Given the description of an element on the screen output the (x, y) to click on. 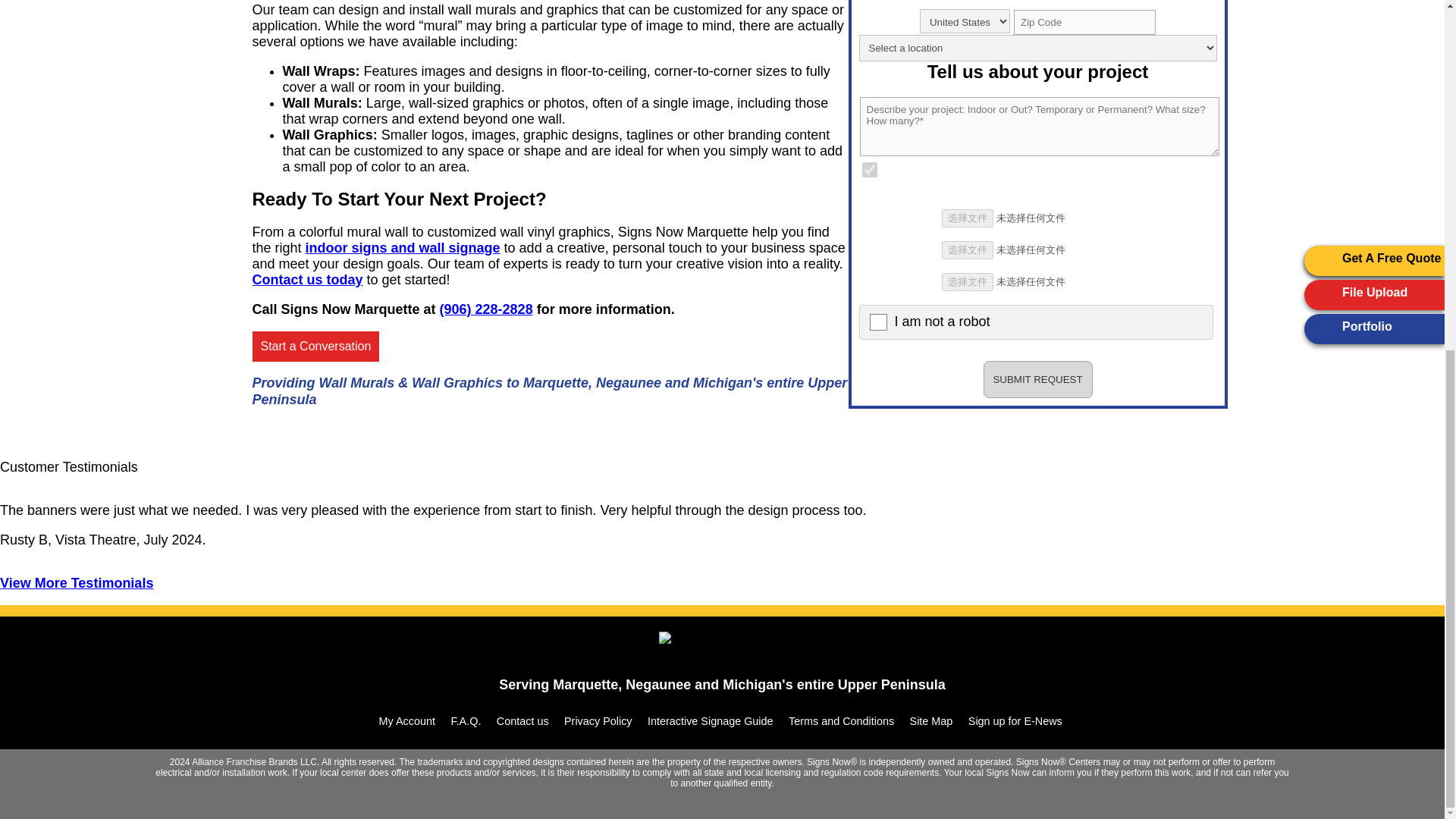
Submit Request (1037, 379)
1 (868, 169)
Start a Conversation (314, 346)
